Given the description of an element on the screen output the (x, y) to click on. 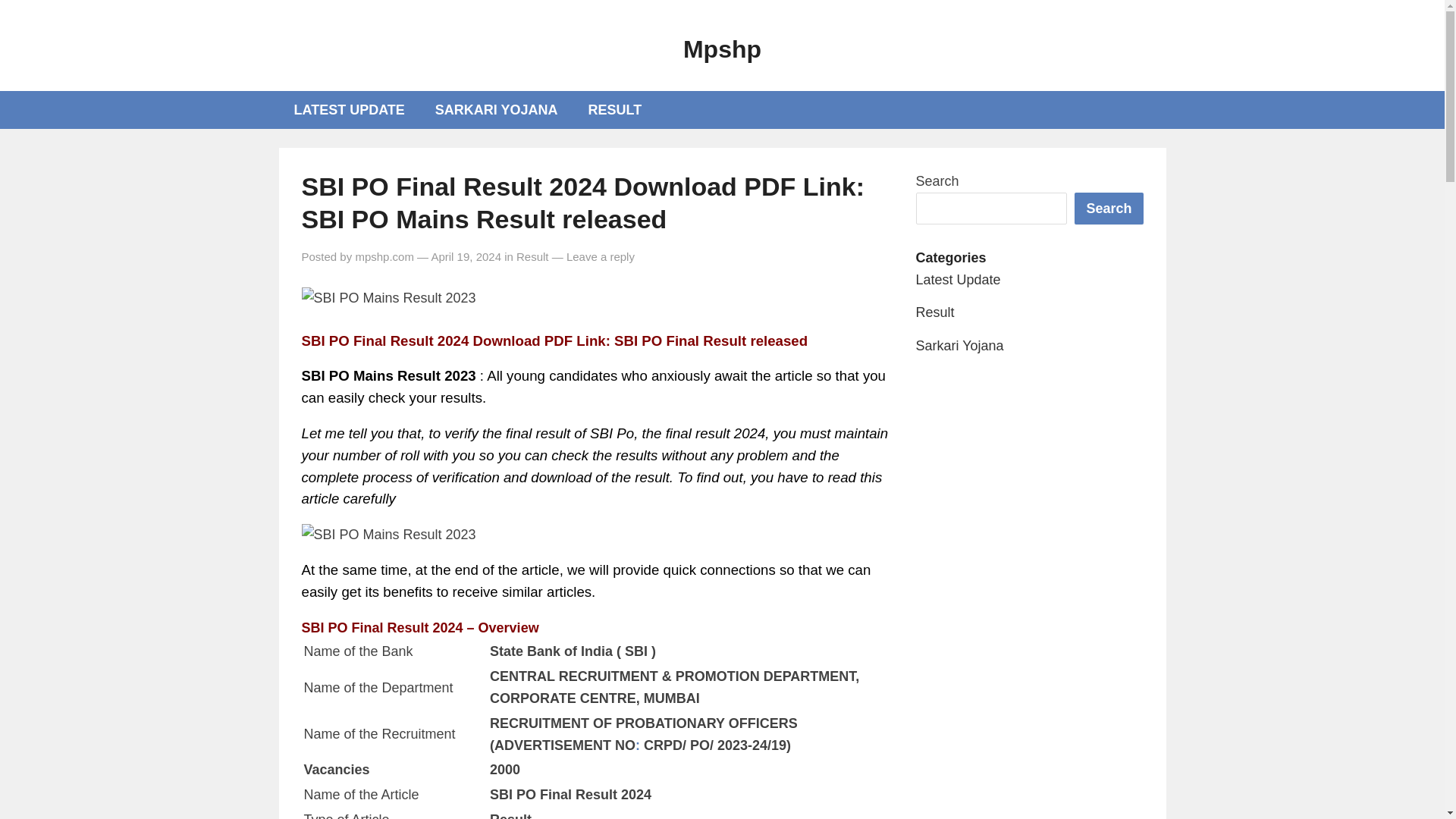
View all posts in Result (532, 256)
RESULT (615, 109)
Sarkari Yojana (959, 345)
Leave a reply (600, 256)
Result (935, 312)
mpshp.com (384, 256)
LATEST UPDATE (349, 109)
SARKARI YOJANA (496, 109)
Mpshp (722, 49)
Search (1108, 208)
Posts by mpshp.com (384, 256)
Latest Update (958, 279)
Result (532, 256)
